Given the description of an element on the screen output the (x, y) to click on. 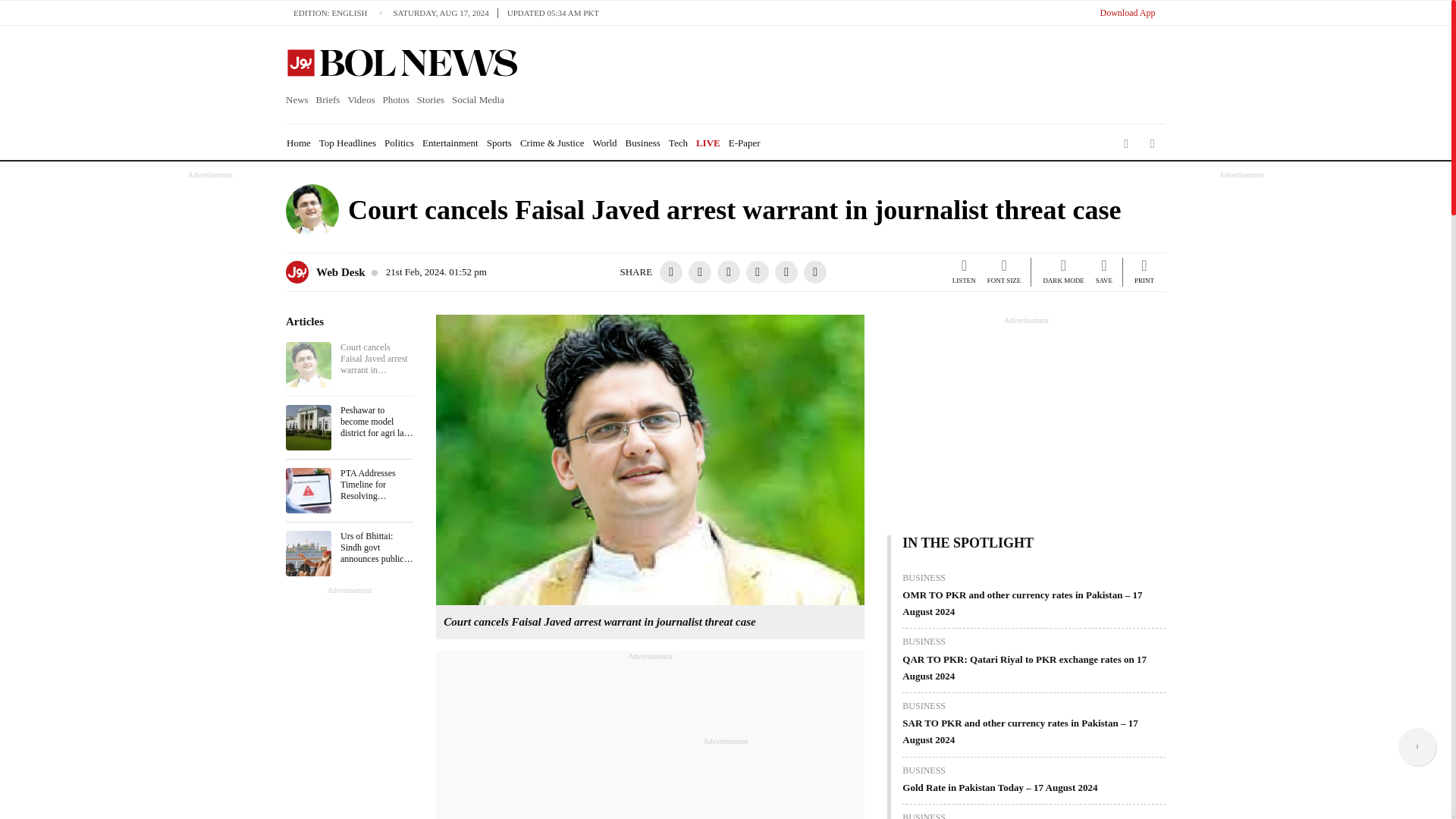
SATURDAY, AUG 17, 2024 (445, 12)
Videos (360, 99)
Download App (1127, 12)
Top Headlines (346, 143)
Stories (430, 99)
Photos (395, 99)
UPDATED 05:34 AM PKT (552, 12)
Entertainment (450, 143)
Social Media (478, 99)
Business (643, 143)
